Given the description of an element on the screen output the (x, y) to click on. 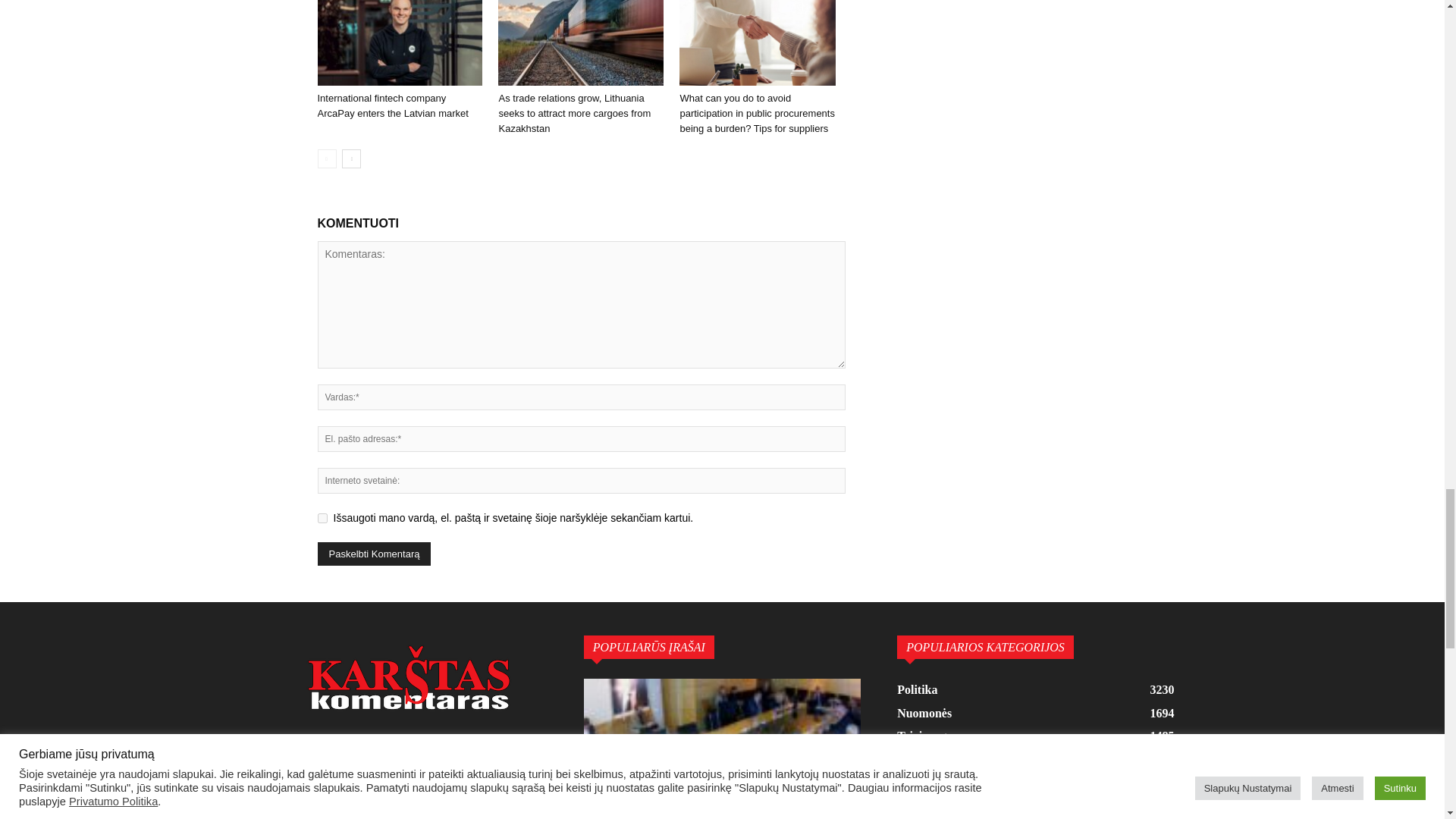
yes (321, 518)
